Given the description of an element on the screen output the (x, y) to click on. 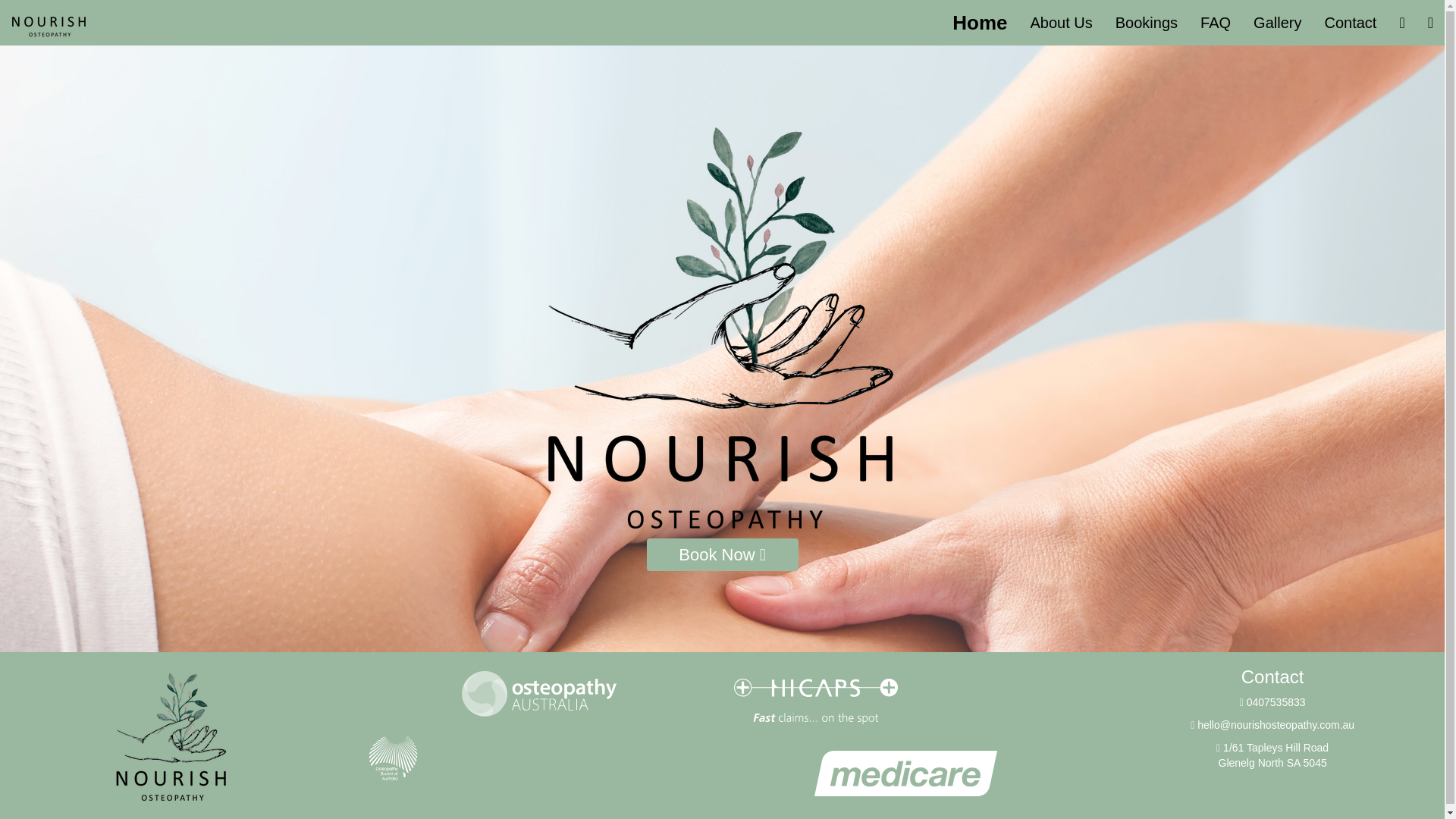
Book Now Element type: text (722, 554)
<i class="fa fa-instagram" aria-hidden="true"></i> Element type: hover (1430, 22)
Gallery Element type: text (1277, 22)
About Us Element type: text (1061, 22)
hello@nourishosteopathy.com.au Element type: text (1272, 724)
1/61 Tapleys Hill Road
Glenelg North SA 5045 Element type: text (1272, 755)
FAQ Element type: text (1215, 22)
<i class="fa fa-facebook-square" aria-hidden="true"></i> Element type: hover (1401, 22)
Bookings Element type: text (1146, 22)
0407535833 Element type: text (1272, 702)
Book Now Element type: text (721, 554)
Home Element type: text (979, 22)
Contact Element type: text (1349, 22)
